Given the description of an element on the screen output the (x, y) to click on. 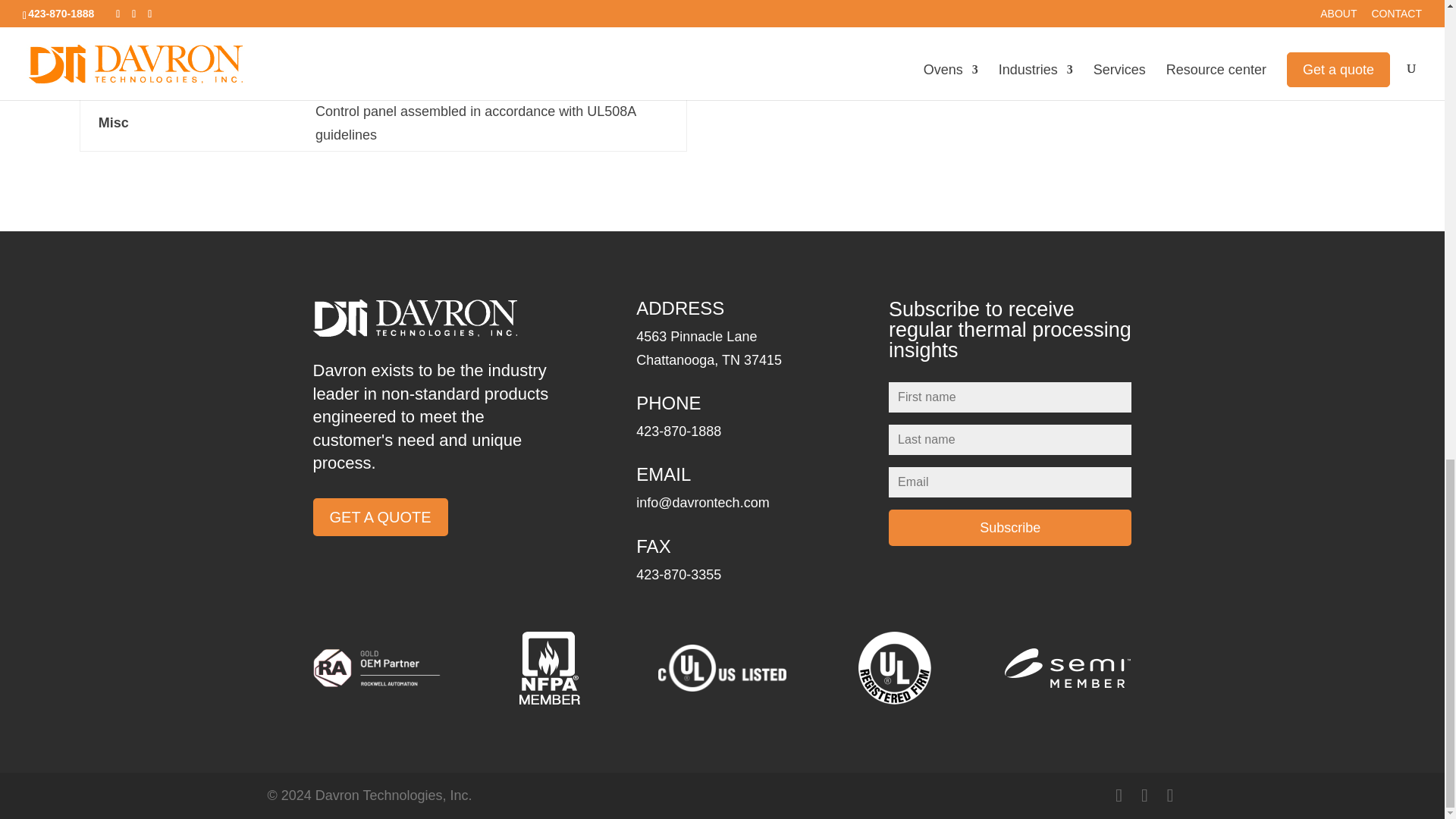
CULUSLISTED (722, 667)
Semi (1067, 667)
Subscribe (1009, 527)
Rockwell (376, 668)
UL registered (895, 667)
